Given the description of an element on the screen output the (x, y) to click on. 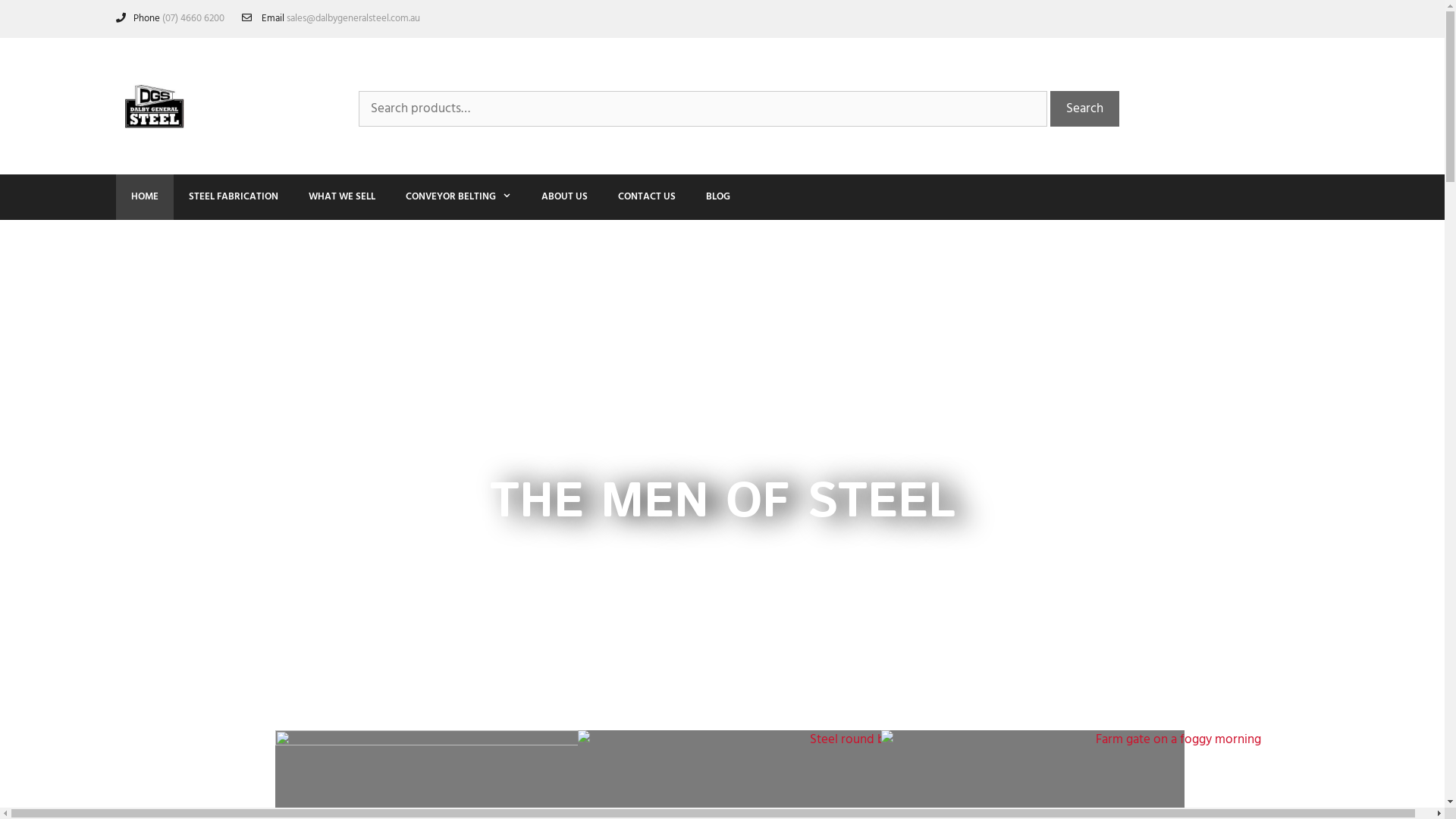
HOME Element type: text (143, 196)
WHAT WE SELL Element type: text (340, 196)
STEEL FABRICATION Element type: text (232, 196)
CONVEYOR BELTING Element type: text (457, 196)
CONTACT US Element type: text (646, 196)
ABOUT US Element type: text (564, 196)
Search Element type: text (1084, 109)
BLOG Element type: text (717, 196)
